Given the description of an element on the screen output the (x, y) to click on. 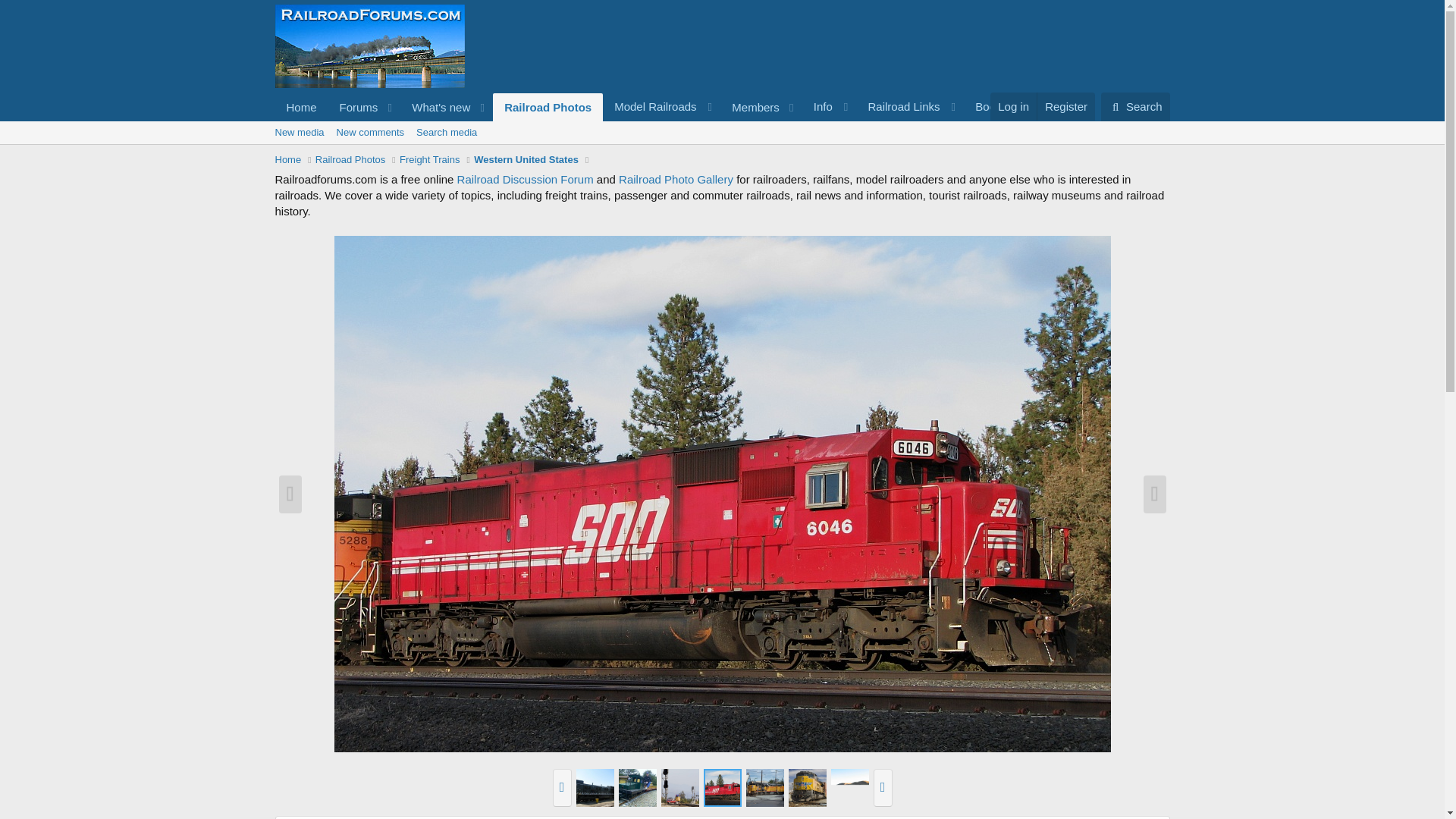
Home (301, 107)
Railroad Photos (547, 107)
Forums (354, 107)
What's new (435, 107)
Info (829, 106)
Railroad Links (720, 132)
Model Railroads (910, 106)
Search (661, 106)
Bookstore (1135, 106)
Log in (1006, 106)
Register (1013, 106)
Members (1065, 106)
